Given the description of an element on the screen output the (x, y) to click on. 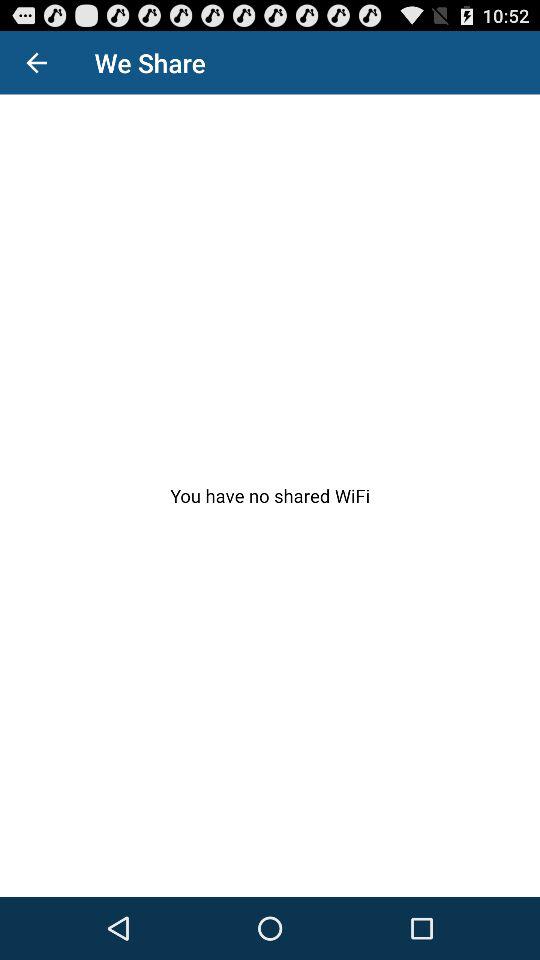
turn off the item above you have no (36, 62)
